Given the description of an element on the screen output the (x, y) to click on. 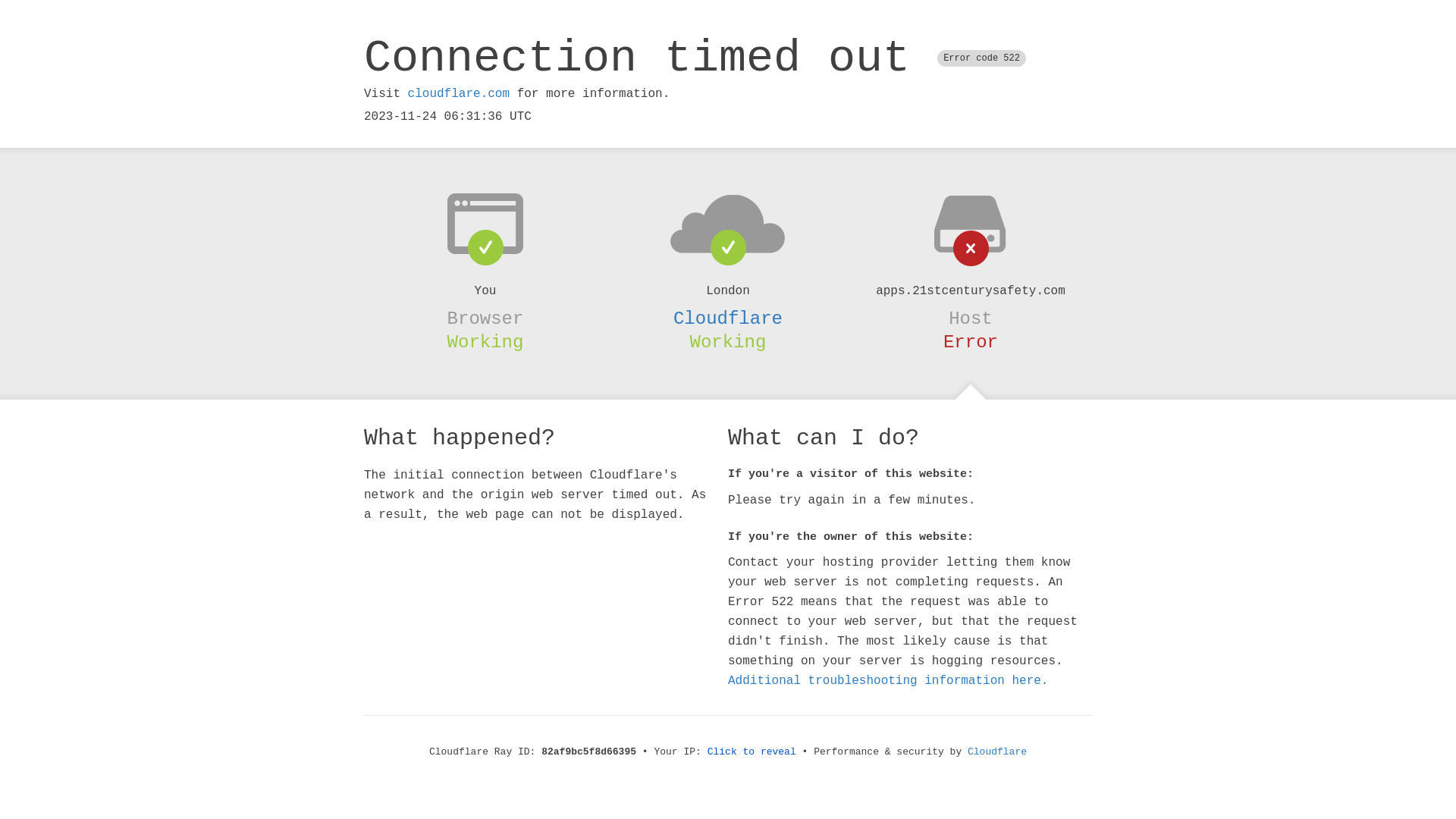
Cloudflare Element type: text (996, 751)
cloudflare.com Element type: text (458, 93)
Additional troubleshooting information here. Element type: text (888, 680)
Cloudflare Element type: text (727, 318)
Click to reveal Element type: text (751, 751)
